Given the description of an element on the screen output the (x, y) to click on. 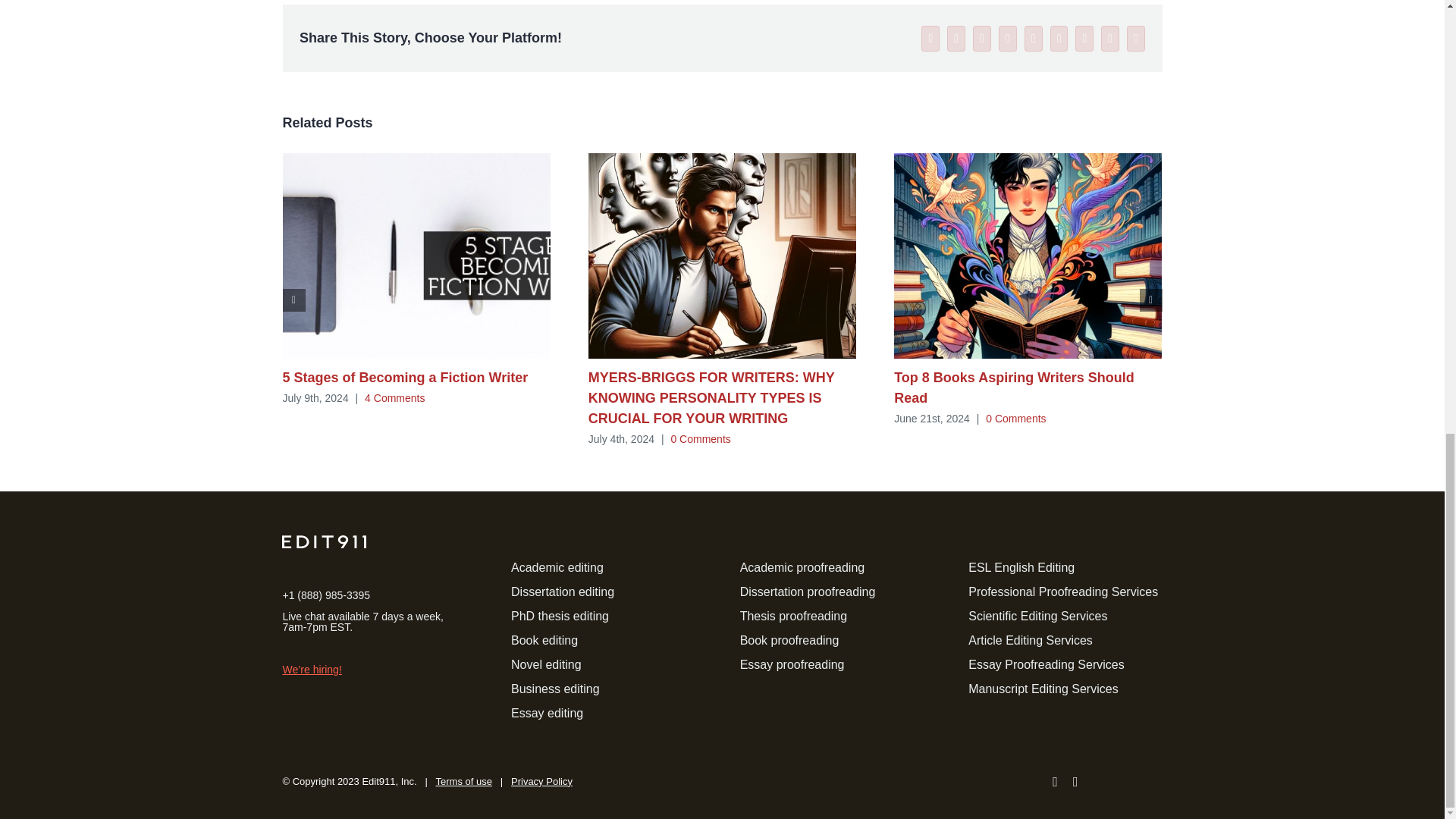
Top 8 Books Aspiring Writers Should Read (1013, 387)
Edit911 (324, 541)
5 Stages of Becoming a Fiction Writer (404, 377)
